Given the description of an element on the screen output the (x, y) to click on. 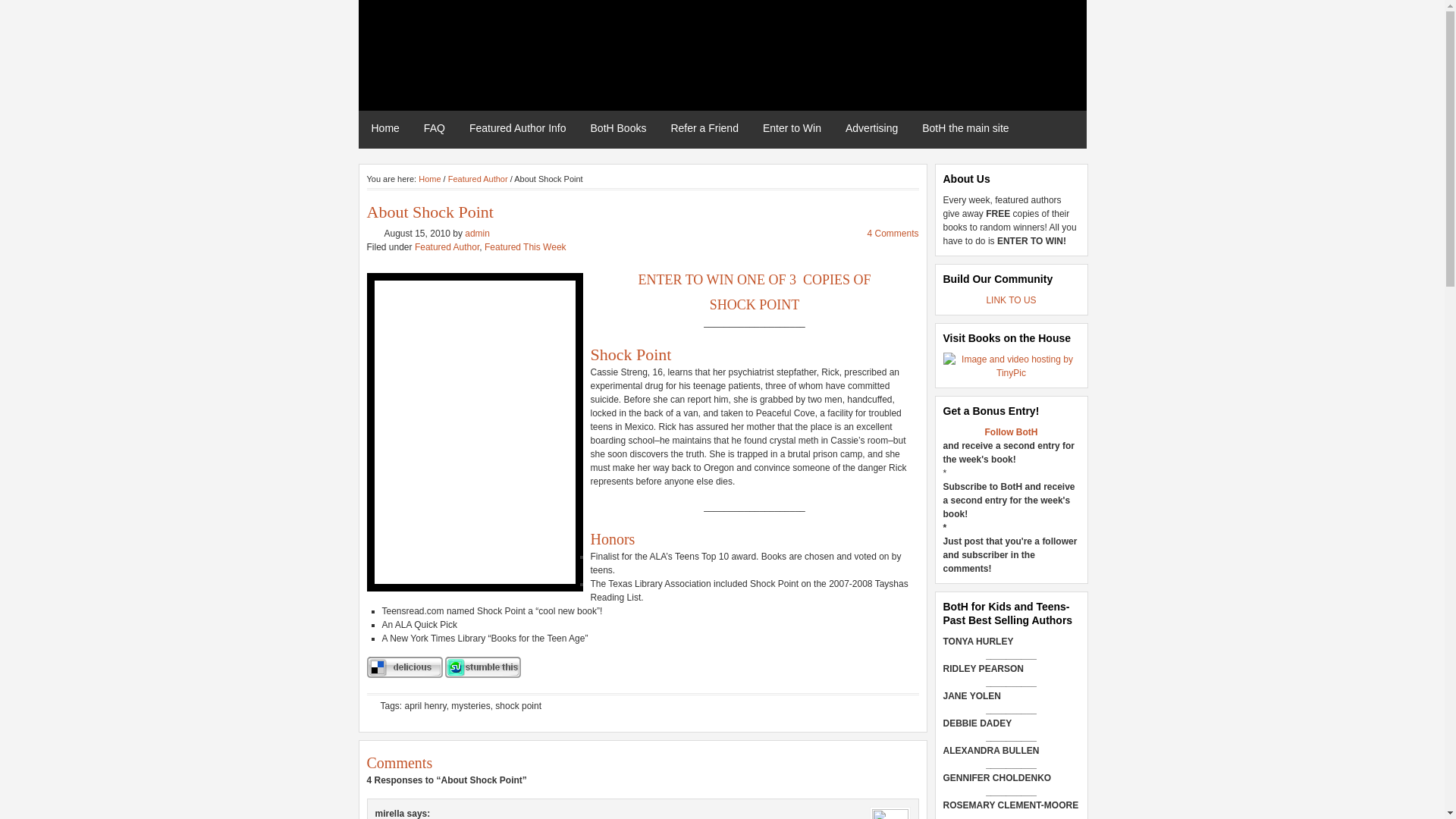
LINK TO US (1010, 299)
Books on the House for Kids and Teens (532, 29)
FAQ (435, 127)
Enter to Win (792, 127)
BotH Books (619, 127)
4 Comments (892, 233)
Featured Author Info (518, 127)
Refer a Friend (705, 127)
Featured Author (446, 246)
BotH Books (619, 127)
BotH the main site (966, 127)
Home (430, 178)
Advertising (872, 127)
View all posts in Featured Author (446, 246)
Advertising (872, 127)
